Given the description of an element on the screen output the (x, y) to click on. 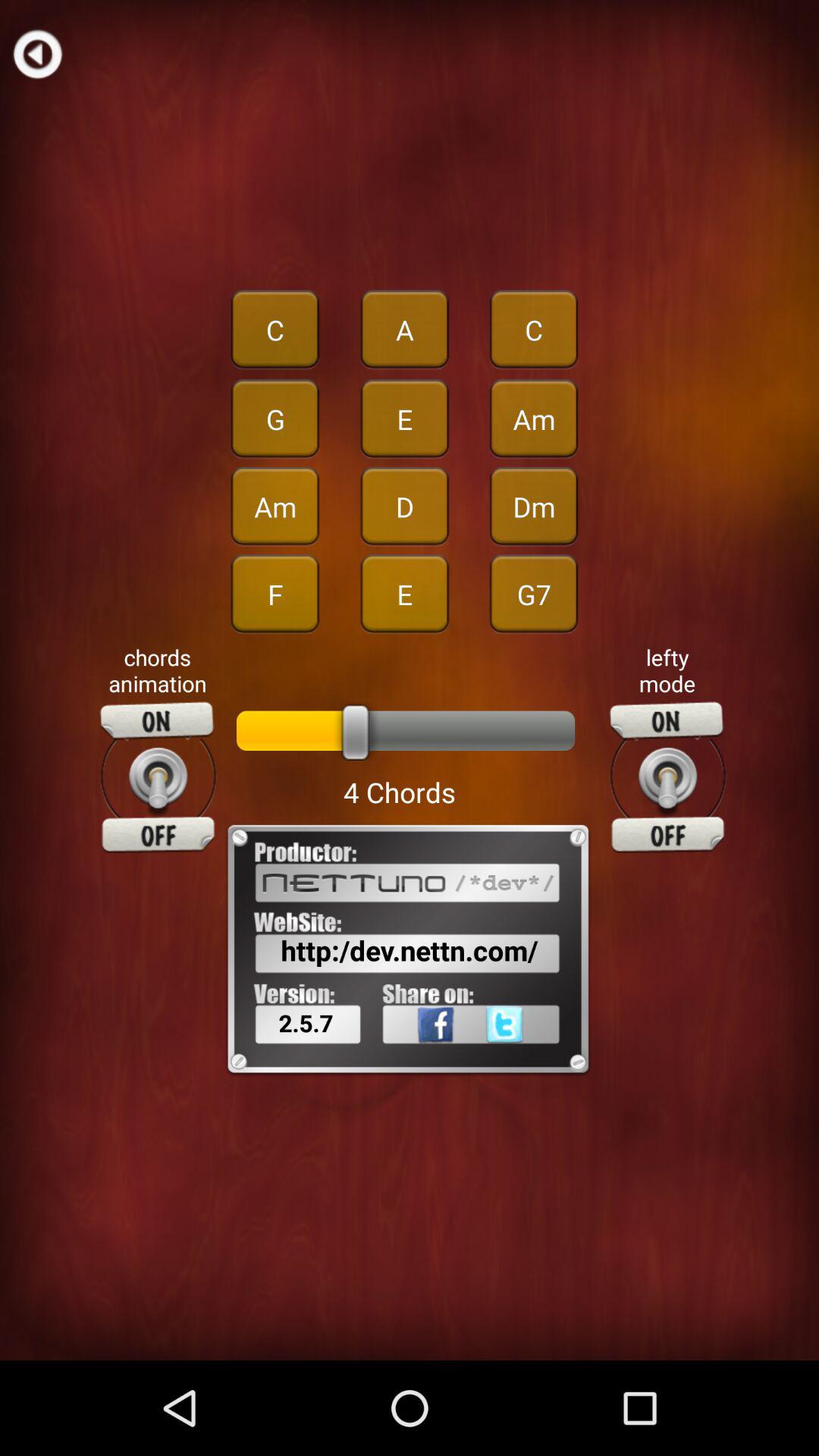
switch on/off (157, 777)
